Given the description of an element on the screen output the (x, y) to click on. 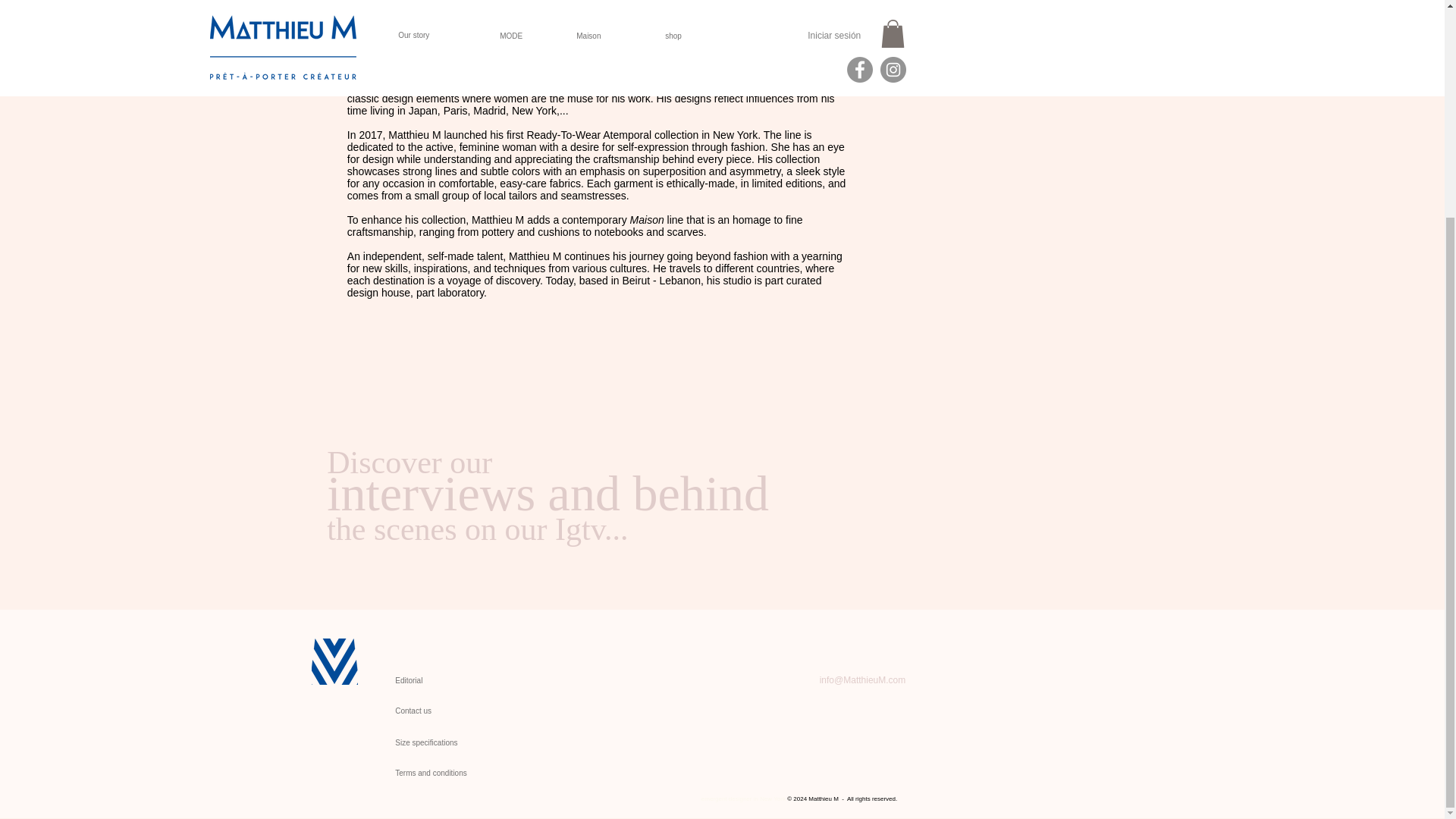
Terms and conditions (469, 773)
Editorial (443, 680)
Size specifications (459, 743)
Contact us (547, 508)
